Given the description of an element on the screen output the (x, y) to click on. 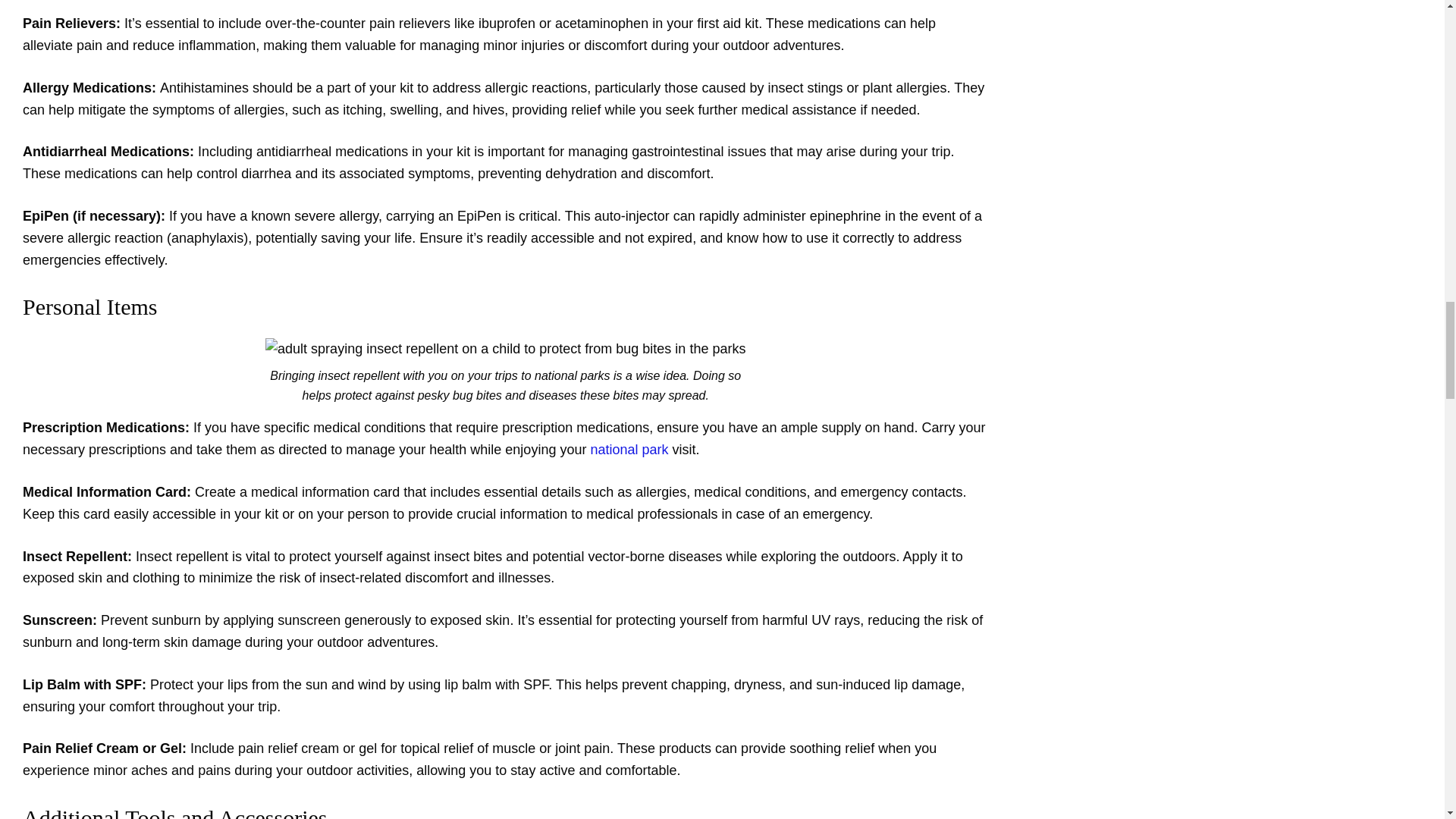
national park (628, 449)
